Given the description of an element on the screen output the (x, y) to click on. 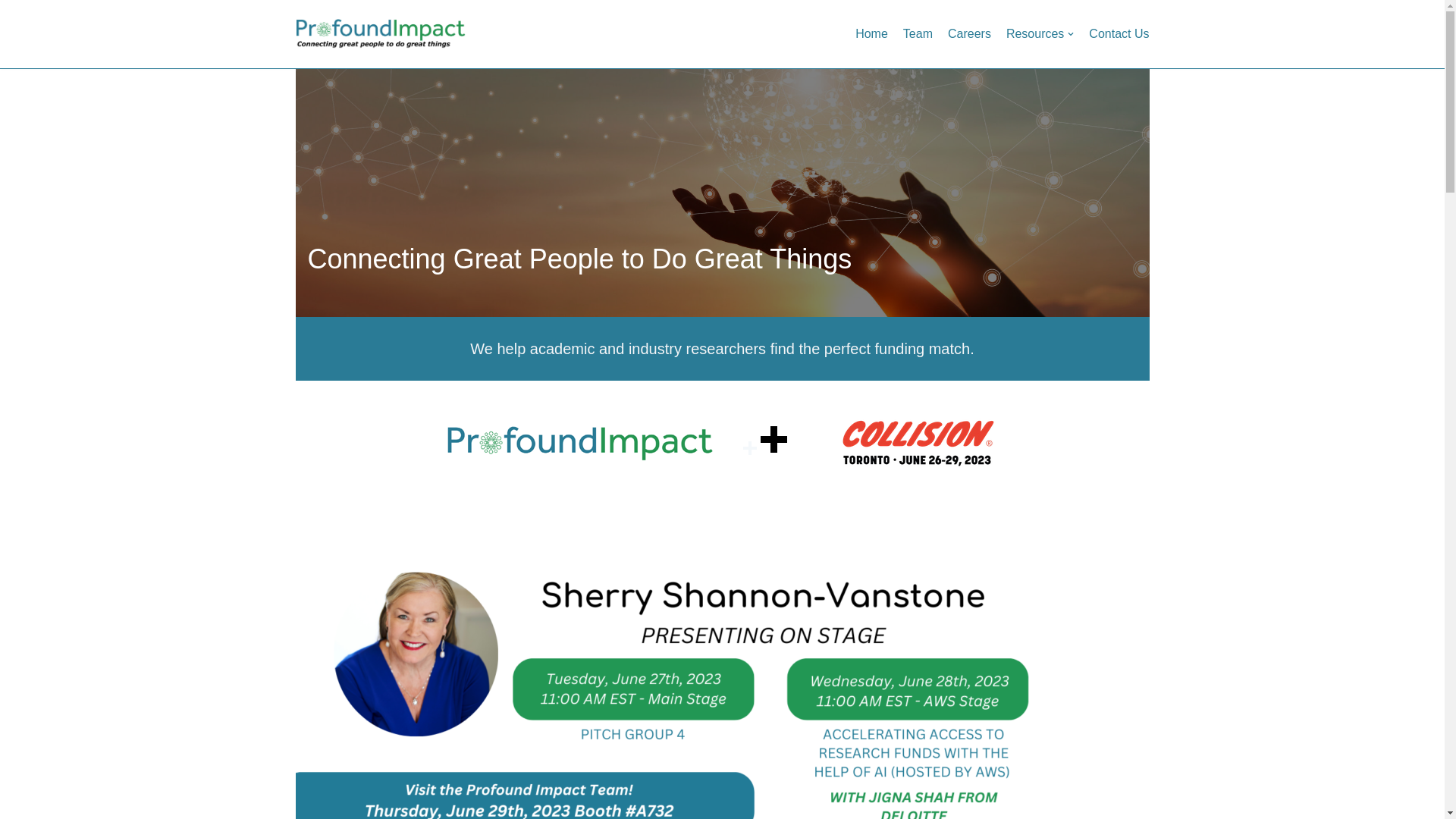
Skip to content (11, 31)
Resources (1040, 34)
Contact Us (1118, 34)
Home (872, 34)
Team (917, 34)
Careers (969, 34)
